Given the description of an element on the screen output the (x, y) to click on. 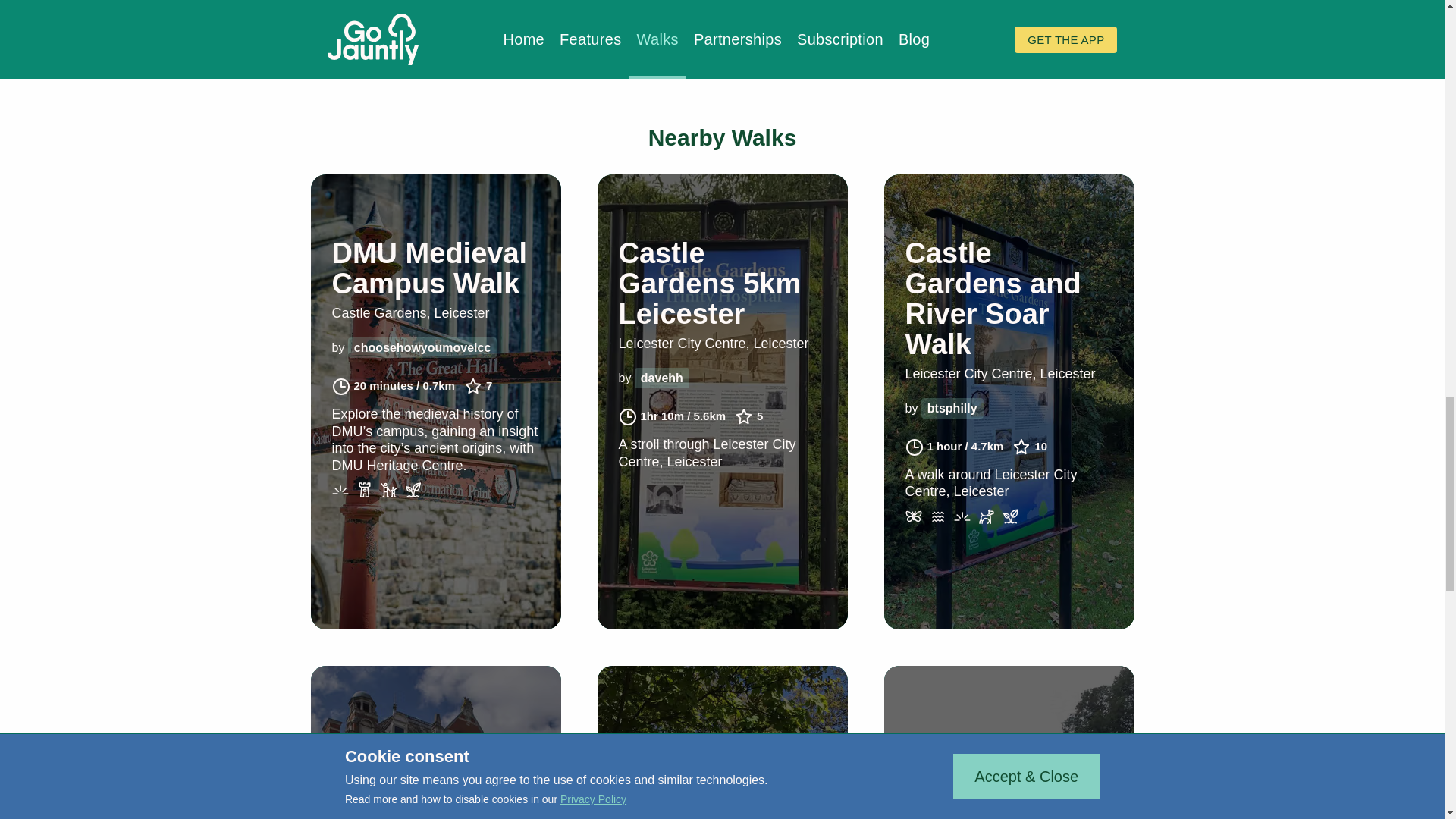
Download the app (373, 65)
Download the app (373, 65)
